Given the description of an element on the screen output the (x, y) to click on. 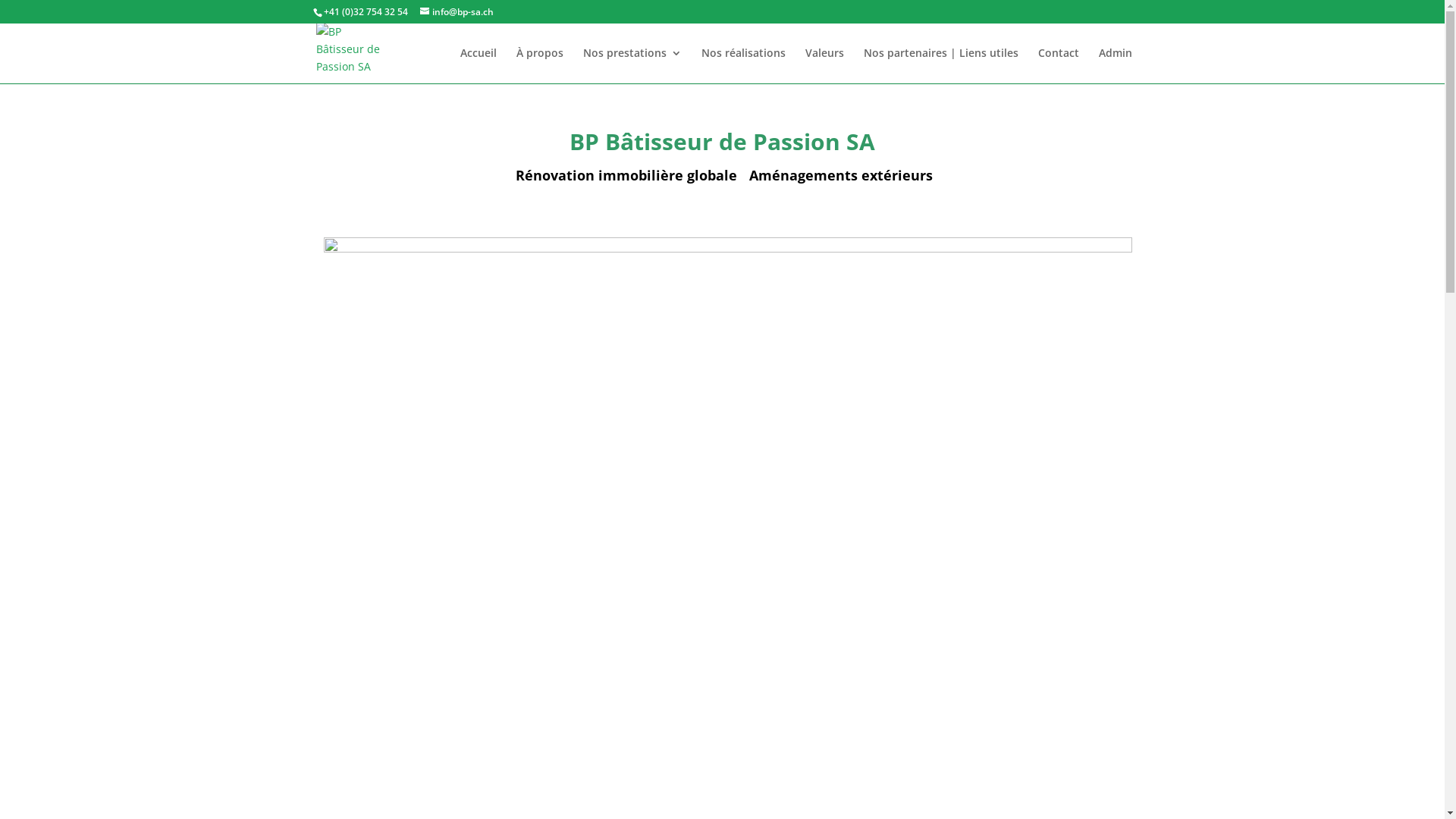
Nos prestations Element type: text (631, 65)
Nos partenaires | Liens utiles Element type: text (939, 65)
Contact Element type: text (1057, 65)
Valeurs Element type: text (824, 65)
IMG_5668 Element type: hover (727, 506)
info@bp-sa.ch Element type: text (456, 11)
Admin Element type: text (1114, 65)
Accueil Element type: text (477, 65)
